Given the description of an element on the screen output the (x, y) to click on. 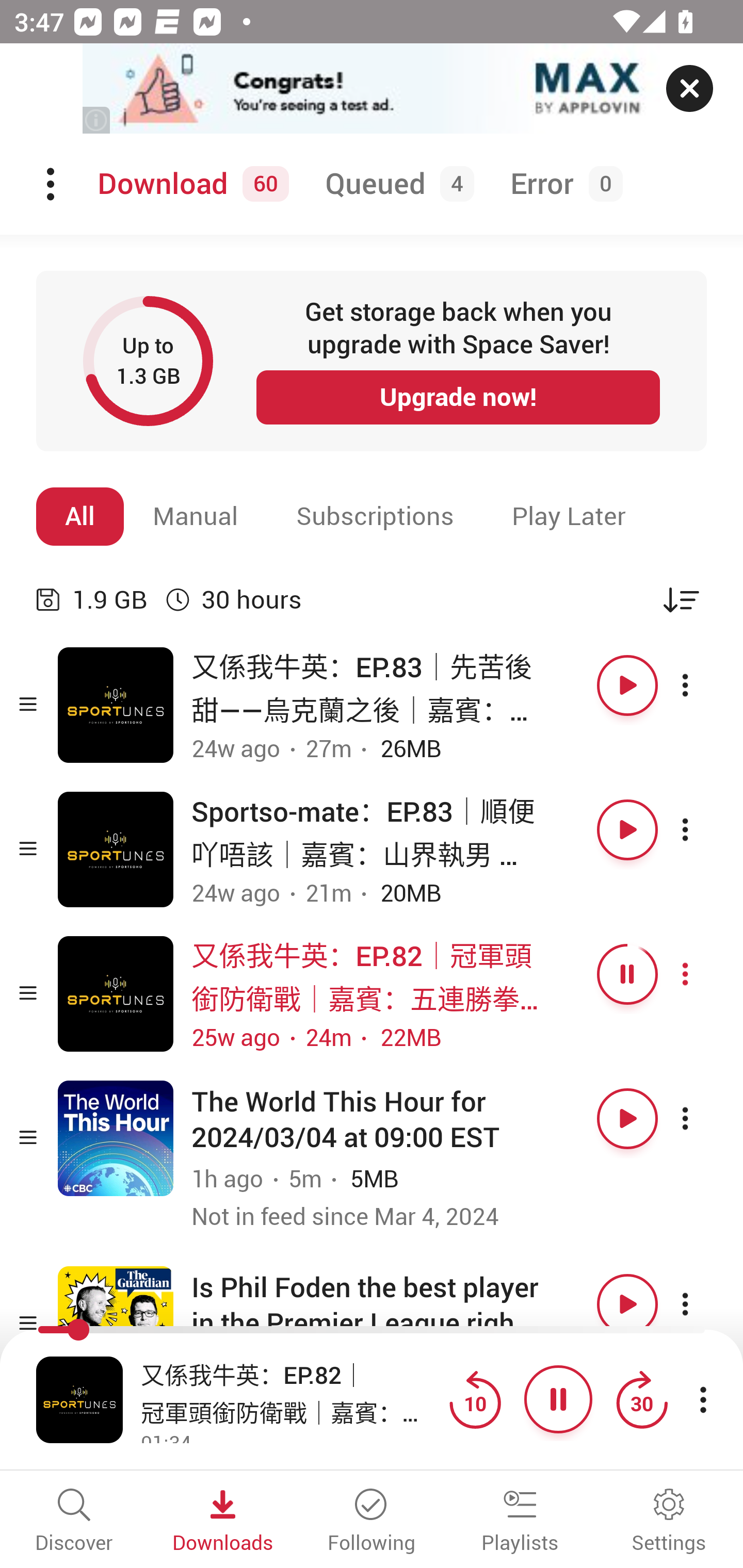
app-monetization (371, 88)
(i) (96, 119)
Menu (52, 184)
 Download 60 (189, 184)
 Queued 4 (396, 184)
 Error 0 (562, 184)
All (80, 516)
Manual (195, 516)
Subscriptions (374, 516)
Play Later (568, 516)
Change sort order (681, 599)
Play button (627, 685)
More options (703, 685)
Open series Sportunes HK (115, 705)
Play button (627, 830)
More options (703, 830)
Open series Sportunes HK (115, 849)
Pause button (627, 974)
More options (703, 974)
Open series Sportunes HK (115, 994)
Play button (627, 1118)
More options (703, 1118)
Open series The World This Hour (115, 1138)
Play button (627, 1304)
More options (703, 1304)
Open series Football Weekly (115, 1323)
Open fullscreen player (79, 1399)
又係我牛英：EP.82｜冠軍頭銜防衛戰｜嘉賓：五連勝拳后 楊曉茹 (290, 1392)
More player controls (703, 1399)
Pause button (558, 1398)
Jump back (475, 1399)
Jump forward (641, 1399)
Discover (74, 1521)
Downloads (222, 1521)
Following (371, 1521)
Playlists (519, 1521)
Settings (668, 1521)
